Given the description of an element on the screen output the (x, y) to click on. 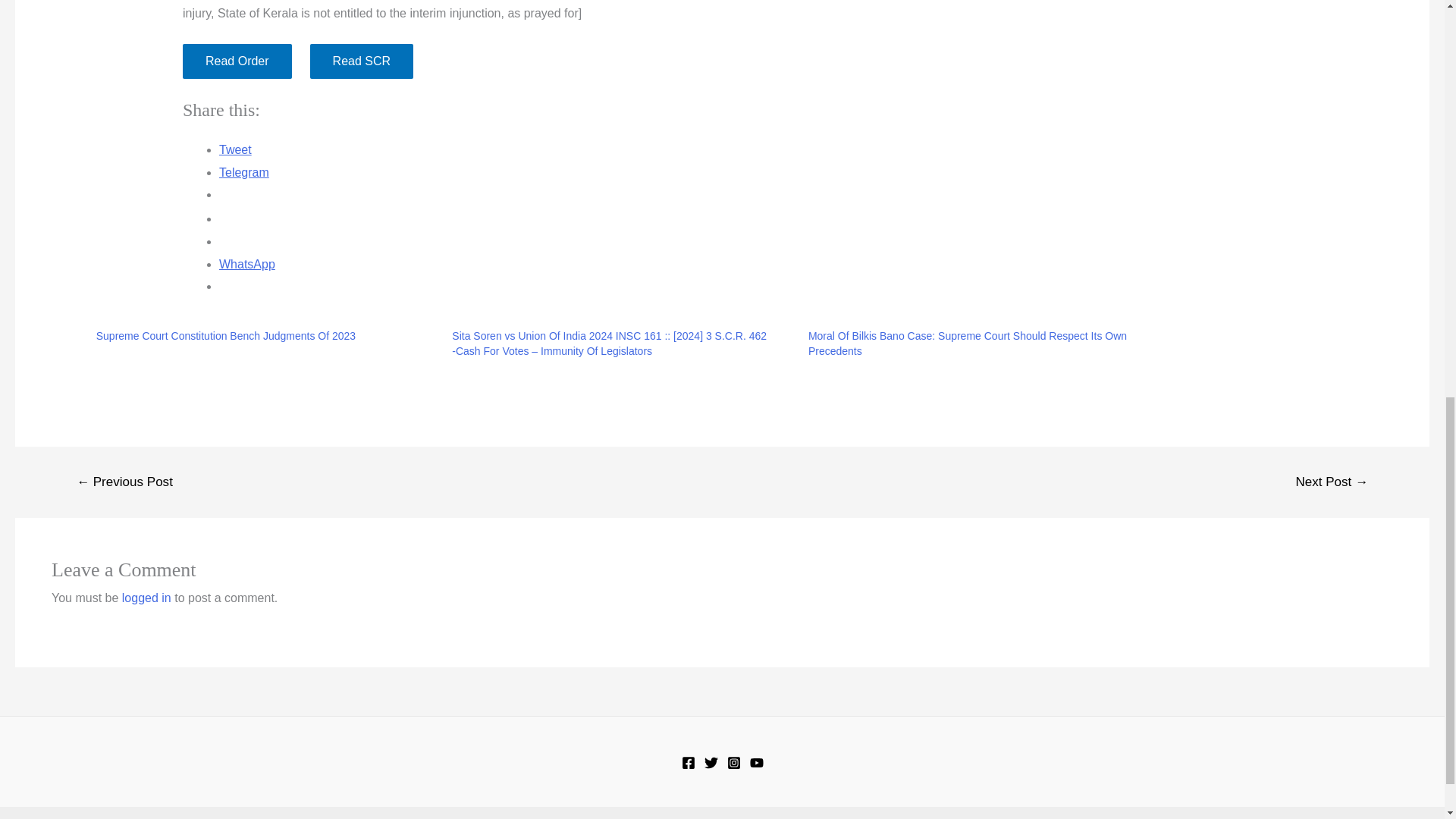
Click to share on Telegram (244, 172)
Click to share on WhatsApp (247, 264)
Supreme Court Constitution Bench Judgments Of 2023 (225, 336)
